Given the description of an element on the screen output the (x, y) to click on. 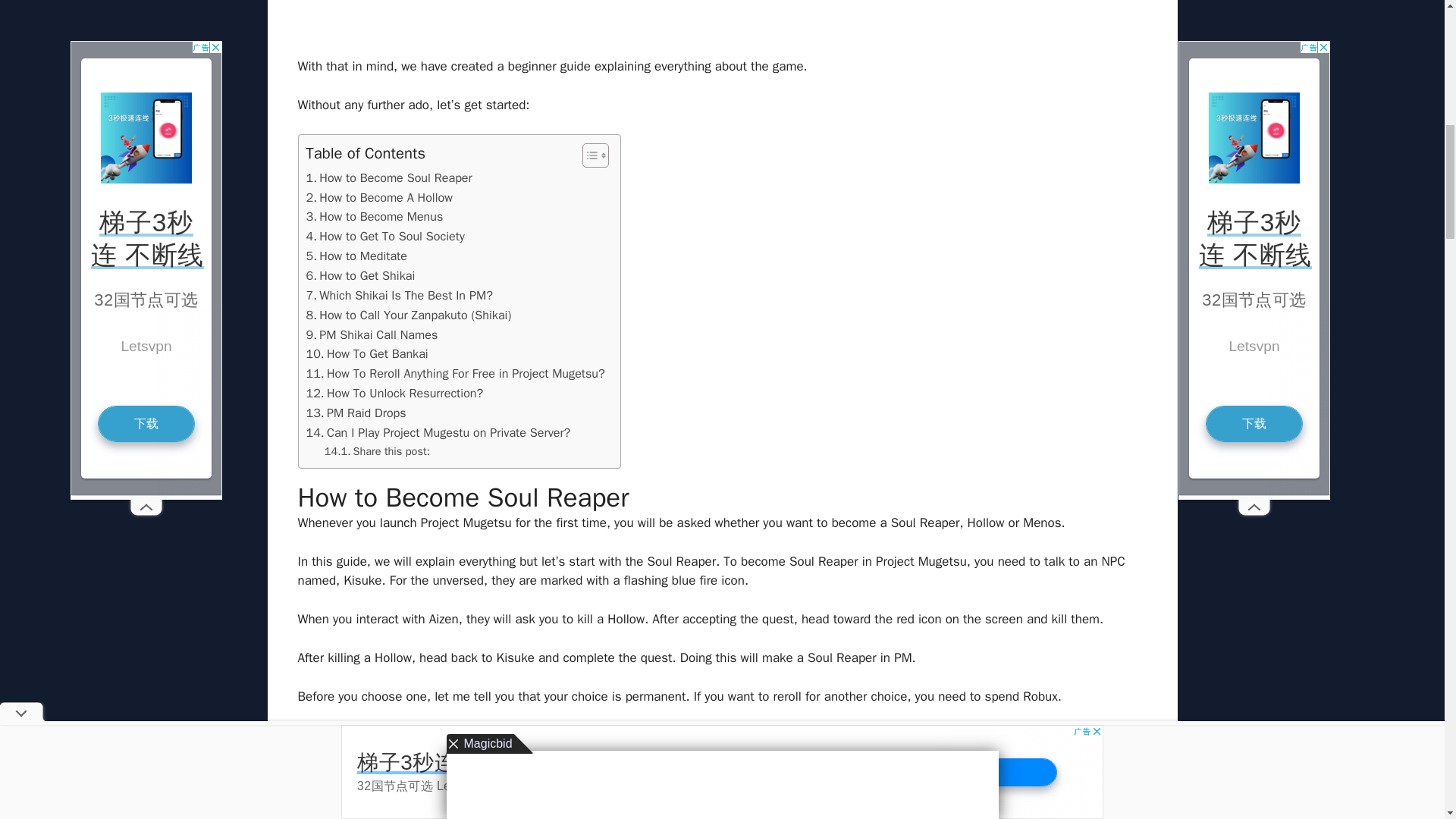
How To Reroll Anything For Free in Project Mugetsu? (455, 373)
PM Shikai Call Names (371, 334)
Which Shikai Is The Best In PM? (399, 295)
How To Unlock Resurrection? (394, 393)
How to Become Menus (374, 216)
How to Become A Hollow (378, 198)
Can I Play Project Mugestu on Private Server? (437, 433)
How to Become Soul Reaper (388, 178)
How to Meditate (356, 256)
How to Get Shikai (359, 275)
How To Get Bankai (366, 353)
How to Become Soul Reaper (388, 178)
Share this post: (376, 451)
How to Get Shikai (359, 275)
How to Meditate (356, 256)
